Given the description of an element on the screen output the (x, y) to click on. 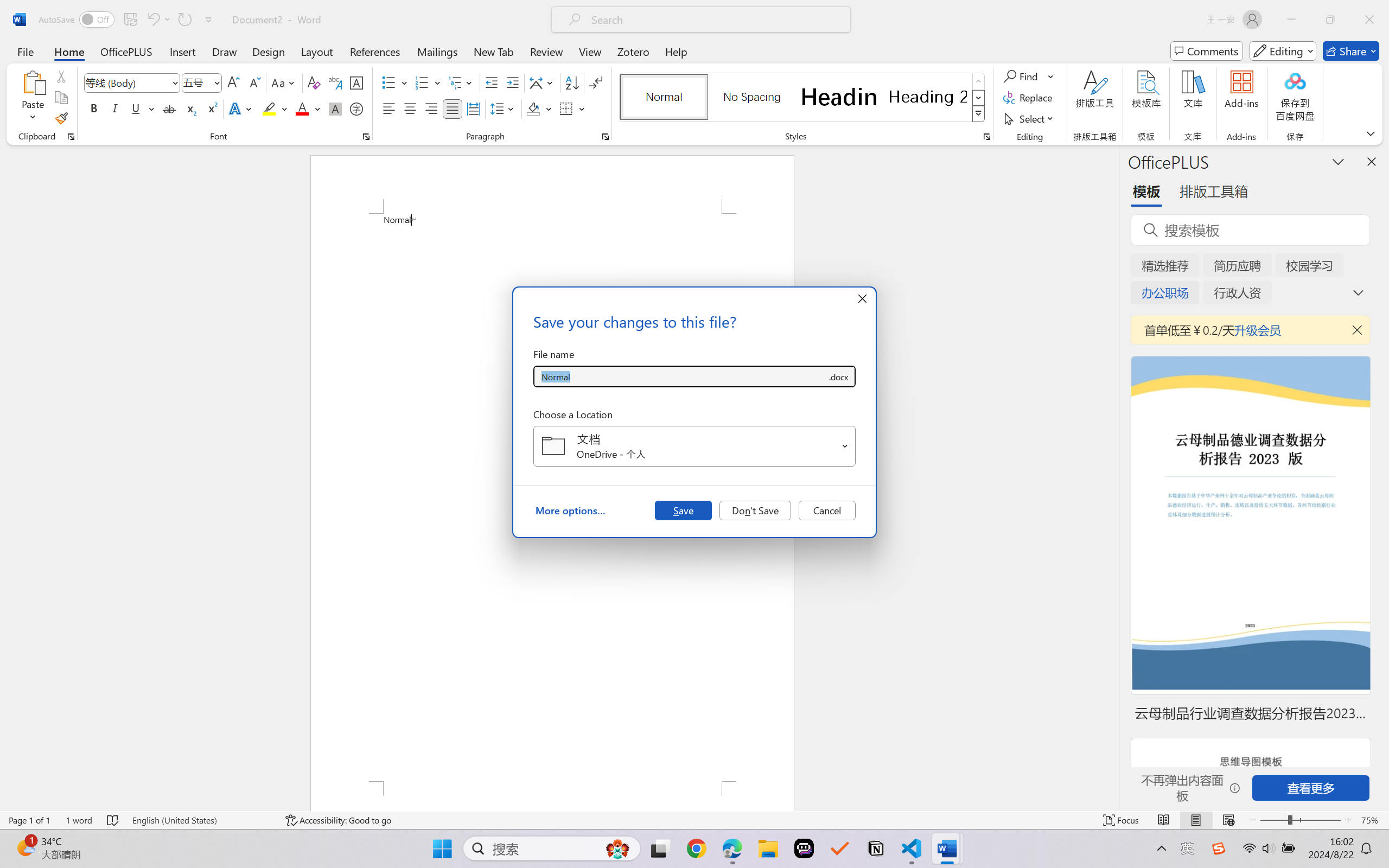
Read Mode (1163, 819)
Share (1350, 51)
AutomationID: DynamicSearchBoxGleamImage (617, 848)
Font Size (201, 82)
Zoom Out (1273, 819)
Enclose Characters... (356, 108)
Review (546, 51)
Paragraph... (605, 136)
File Tab (24, 51)
Font Color Red (302, 108)
Draw (224, 51)
Save (682, 509)
